Given the description of an element on the screen output the (x, y) to click on. 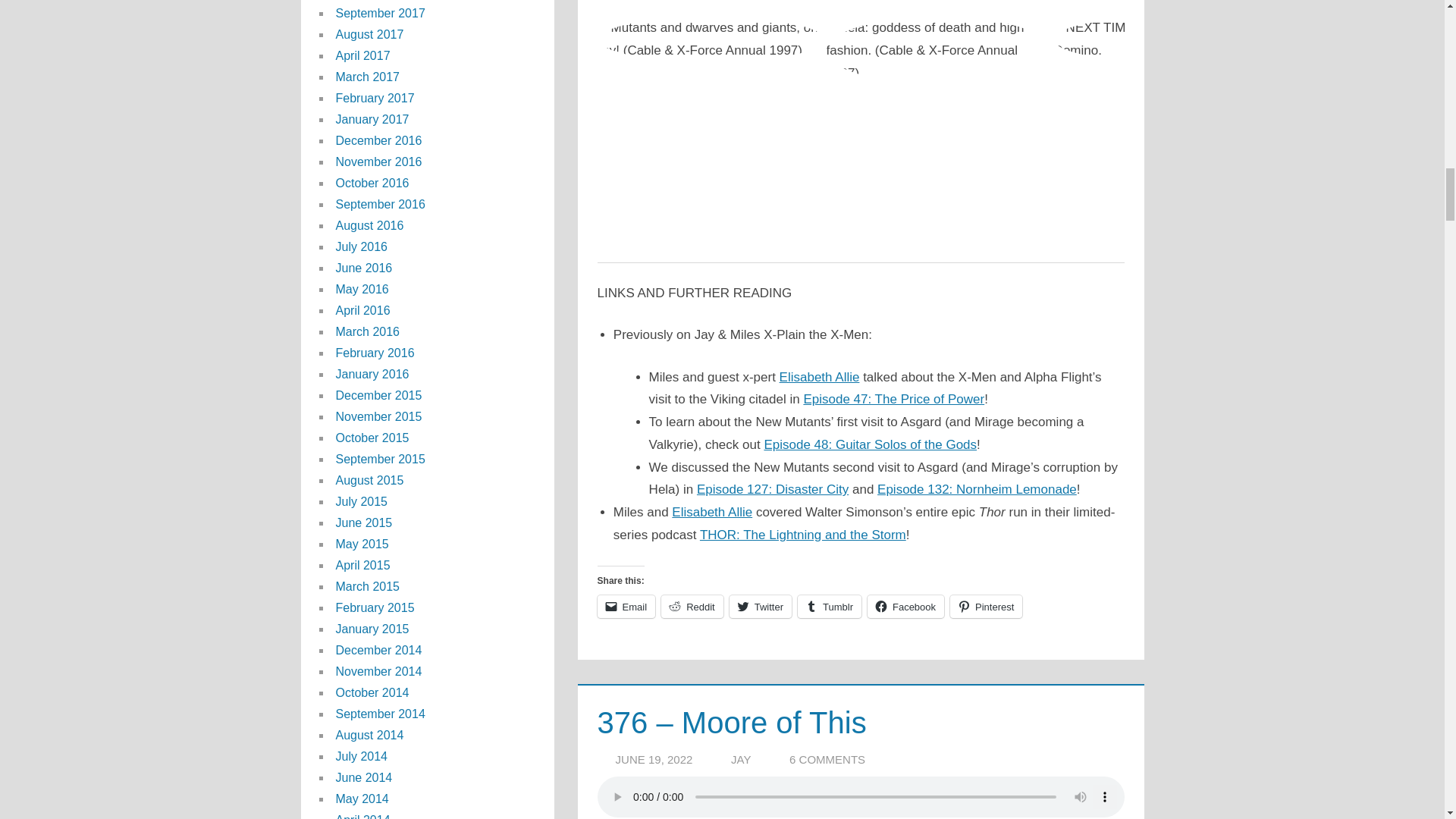
Elisabeth Allie (819, 377)
Episode 47: The Price of Power (893, 399)
